Given the description of an element on the screen output the (x, y) to click on. 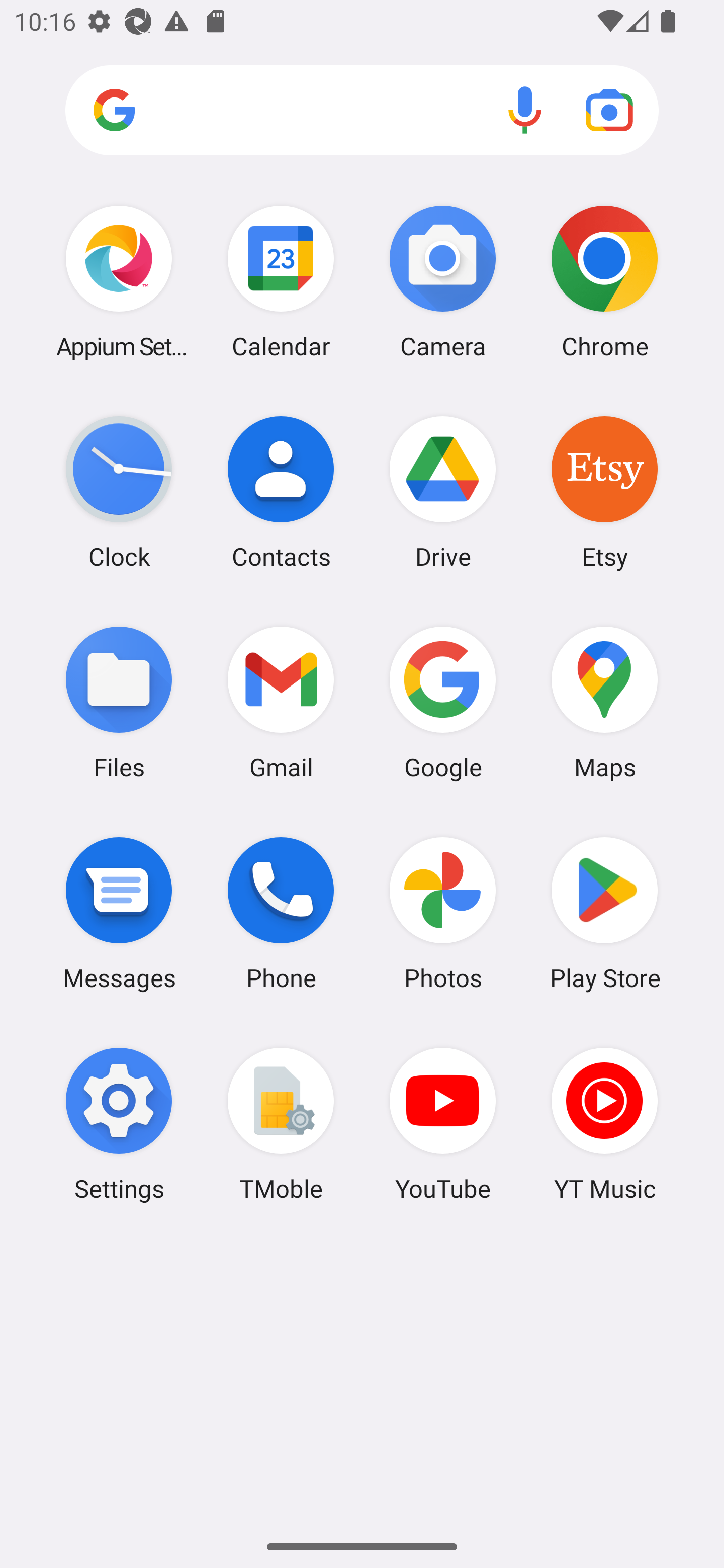
Search apps, web and more (361, 110)
Voice search (524, 109)
Google Lens (608, 109)
Appium Settings (118, 281)
Calendar (280, 281)
Camera (443, 281)
Chrome (604, 281)
Clock (118, 492)
Contacts (280, 492)
Drive (443, 492)
Etsy (604, 492)
Files (118, 702)
Gmail (280, 702)
Google (443, 702)
Maps (604, 702)
Messages (118, 913)
Phone (280, 913)
Photos (443, 913)
Play Store (604, 913)
Settings (118, 1124)
TMoble (280, 1124)
YouTube (443, 1124)
YT Music (604, 1124)
